Given the description of an element on the screen output the (x, y) to click on. 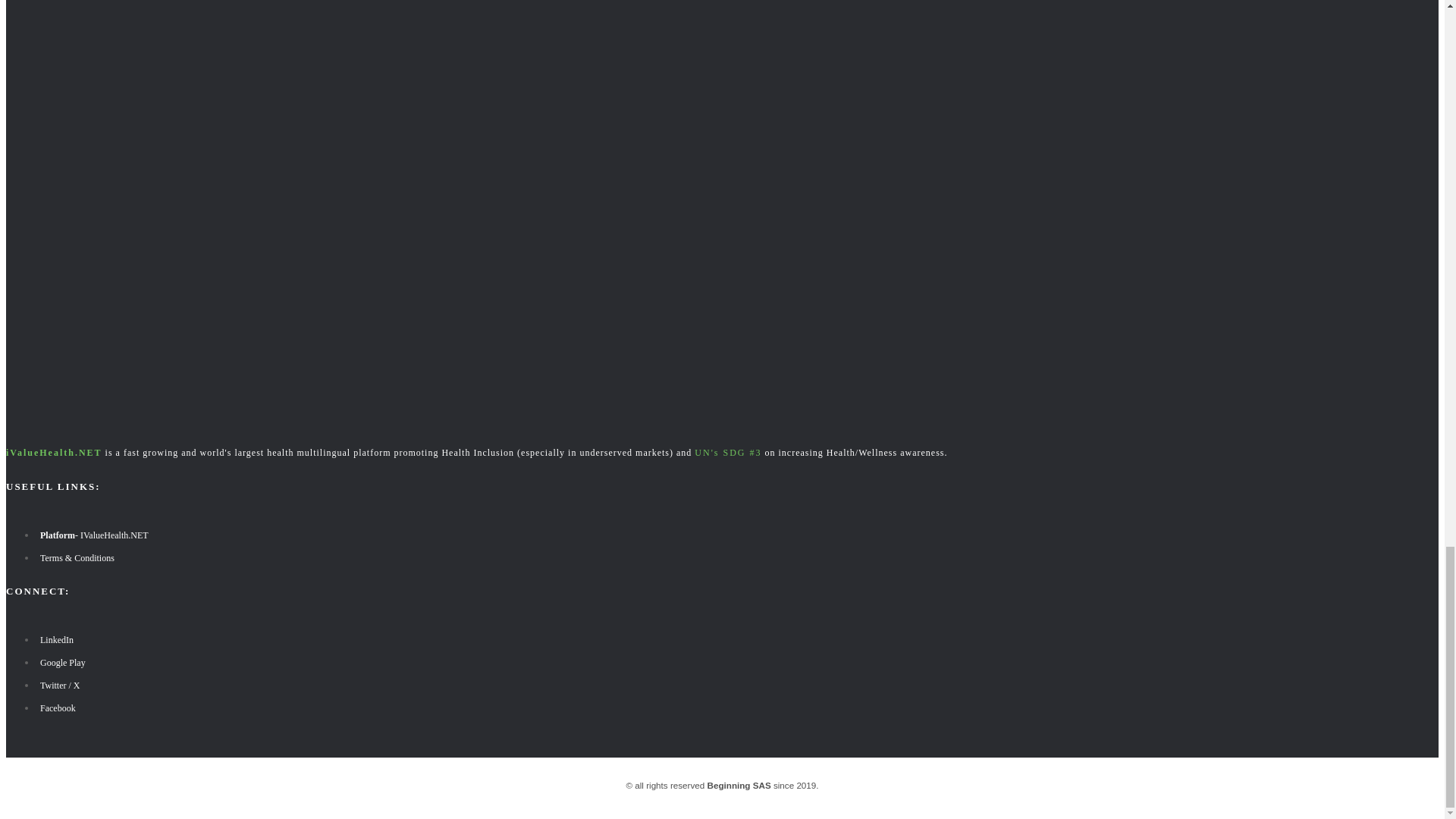
Facebook (55, 707)
Platform- IValueHealth.NET (92, 534)
iValueHealth.NET (53, 452)
Google Play (60, 662)
LinkedIn (55, 639)
